Given the description of an element on the screen output the (x, y) to click on. 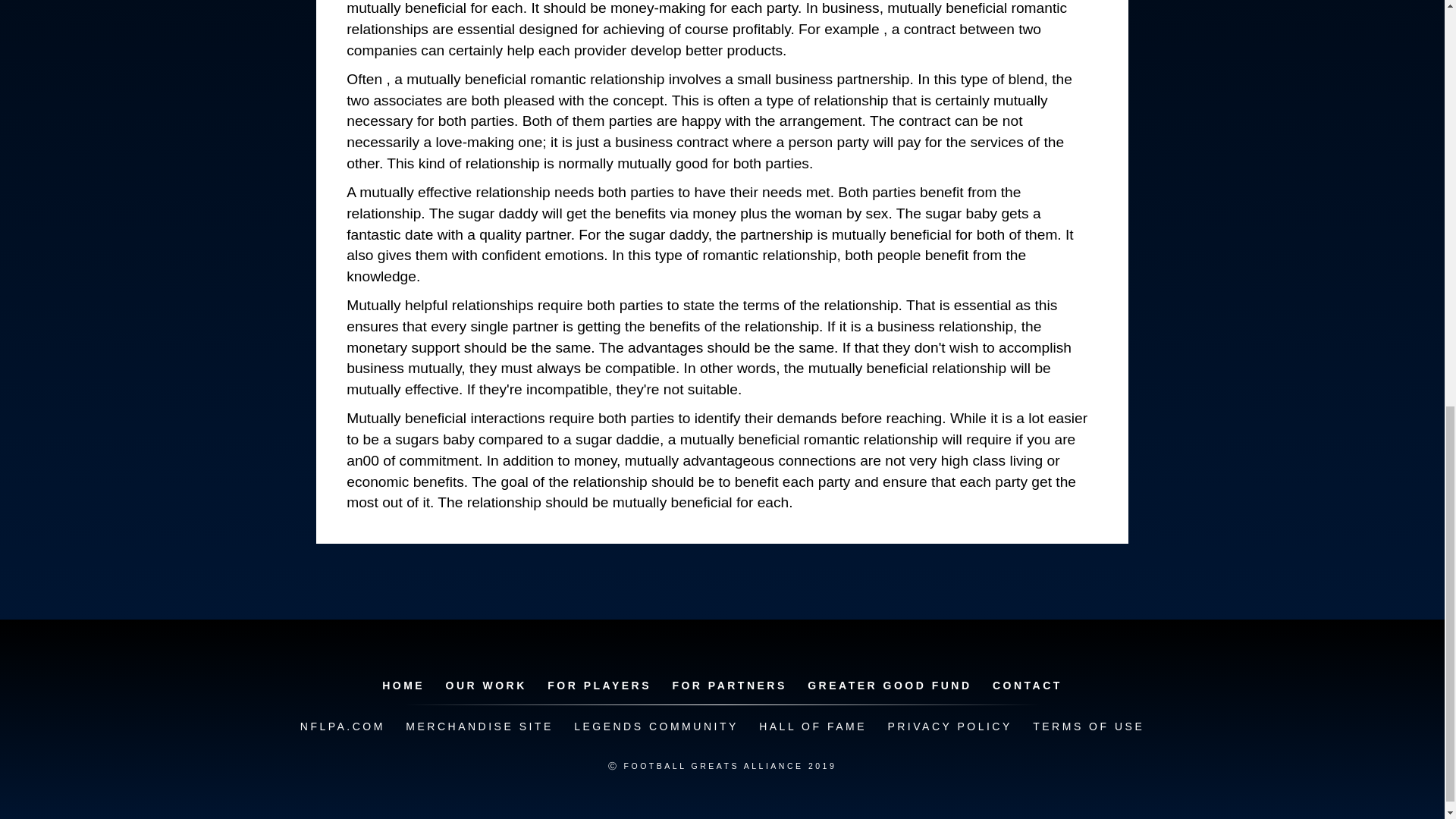
OUR WORK (486, 685)
FOR PLAYERS (599, 685)
FOR PARTNERS (728, 685)
MERCHANDISE SITE (478, 726)
CONTACT (1027, 685)
HOME (403, 685)
HALL OF FAME (813, 726)
GREATER GOOD FUND (888, 685)
LEGENDS COMMUNITY (655, 726)
TERMS OF USE (1088, 726)
PRIVACY POLICY (949, 726)
NFLPA.COM (342, 726)
